Given the description of an element on the screen output the (x, y) to click on. 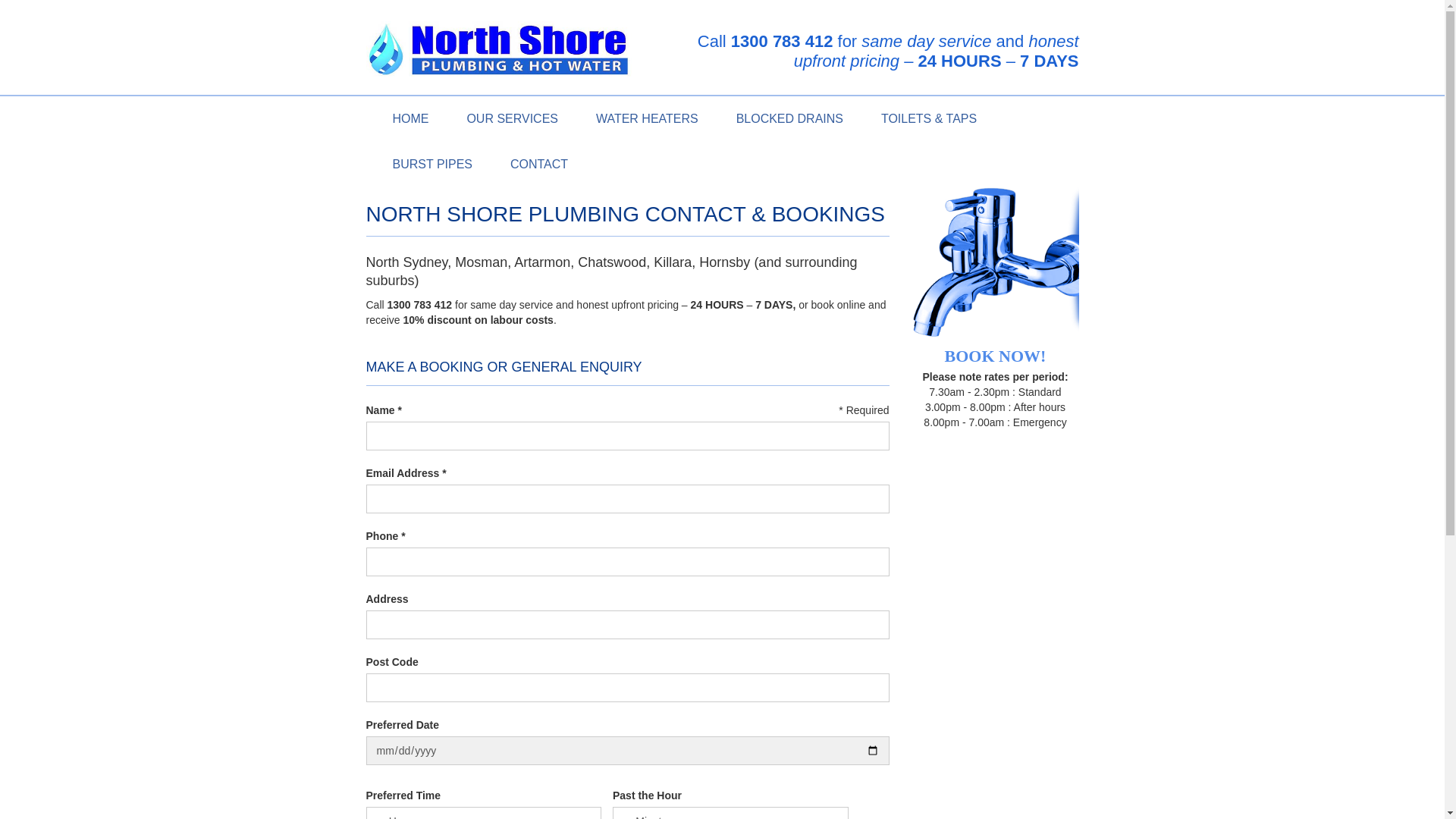
BOOK NOW! Element type: text (994, 275)
BURST PIPES Element type: text (431, 163)
BLOCKED DRAINS Element type: text (789, 118)
WATER HEATERS Element type: text (646, 118)
CONTACT Element type: text (538, 163)
OUR SERVICES Element type: text (511, 118)
TOILETS & TAPS Element type: text (928, 118)
HOME Element type: text (409, 118)
